Given the description of an element on the screen output the (x, y) to click on. 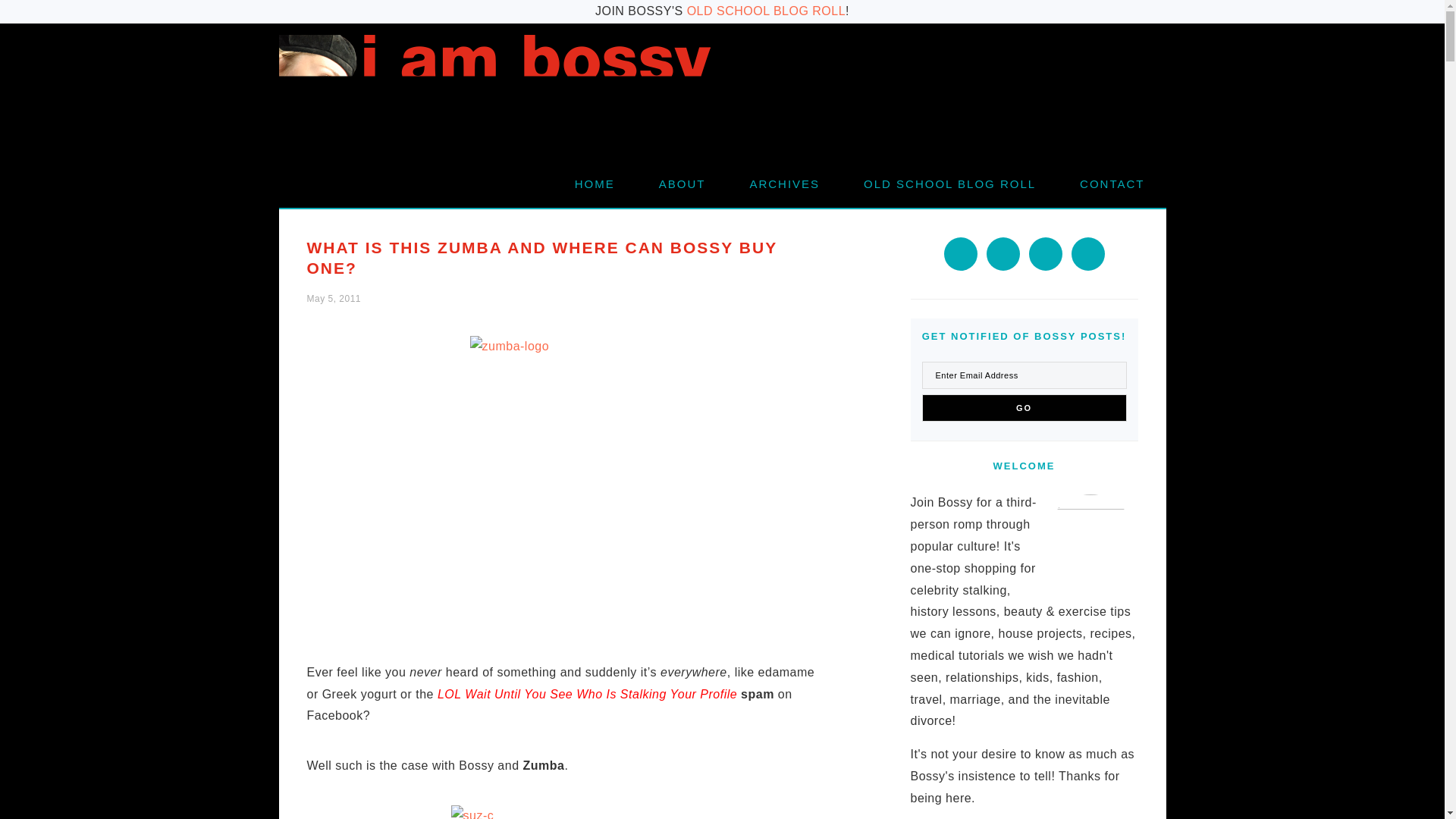
OLD SCHOOL BLOG ROLL (950, 183)
ABOUT (681, 183)
OLD SCHOOL BLOG ROLL (766, 10)
suz-c by i am bossy, on Flickr (563, 812)
HOME (594, 183)
ARCHIVES (784, 183)
Go (1023, 407)
CONTACT (1112, 183)
I AM BOSSY (495, 93)
